Given the description of an element on the screen output the (x, y) to click on. 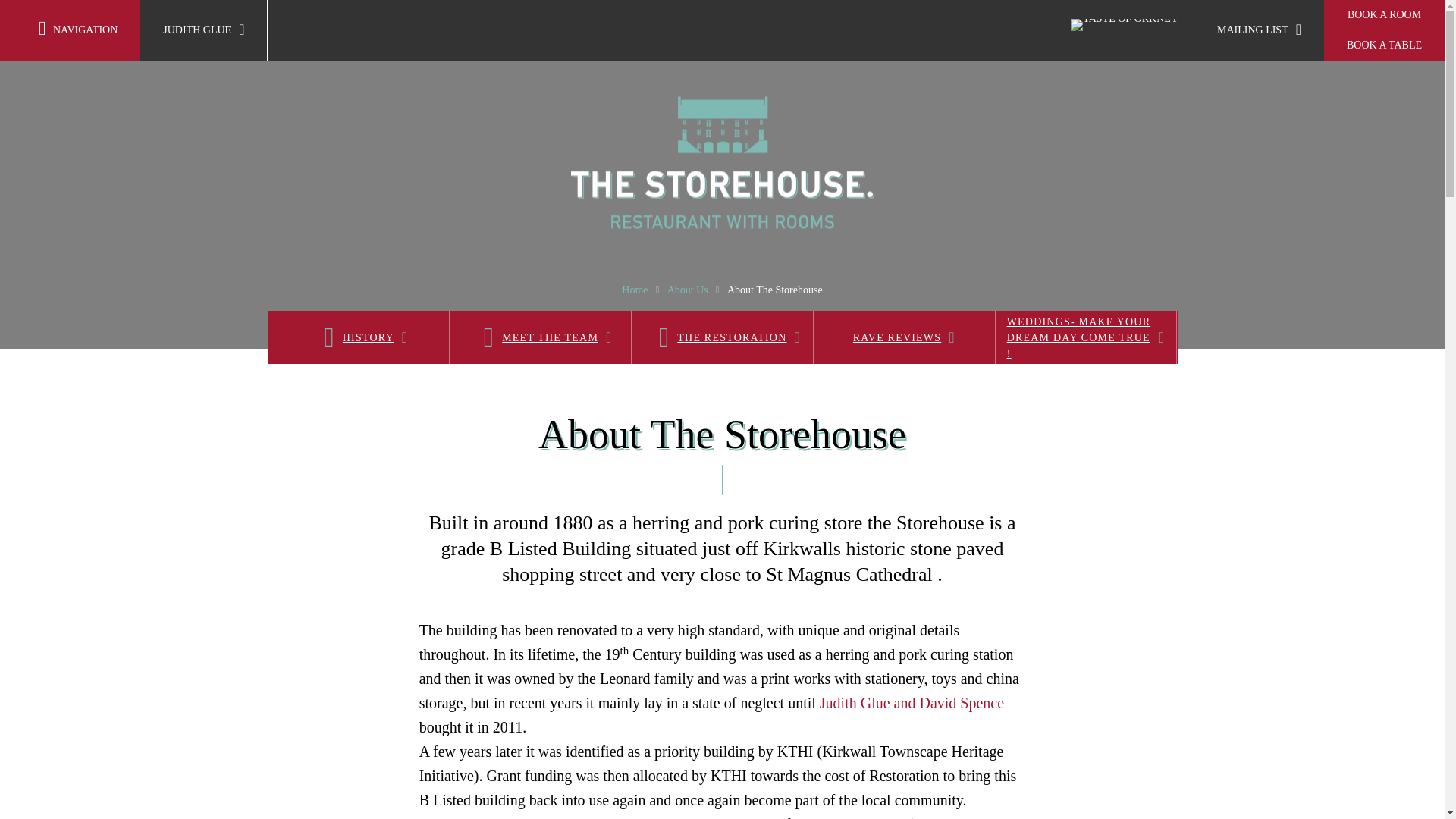
About Us (686, 289)
JUDITH GLUE (203, 30)
NAVIGATION (69, 30)
MAILING LIST (1258, 30)
Home (634, 289)
HISTORY (357, 337)
